Given the description of an element on the screen output the (x, y) to click on. 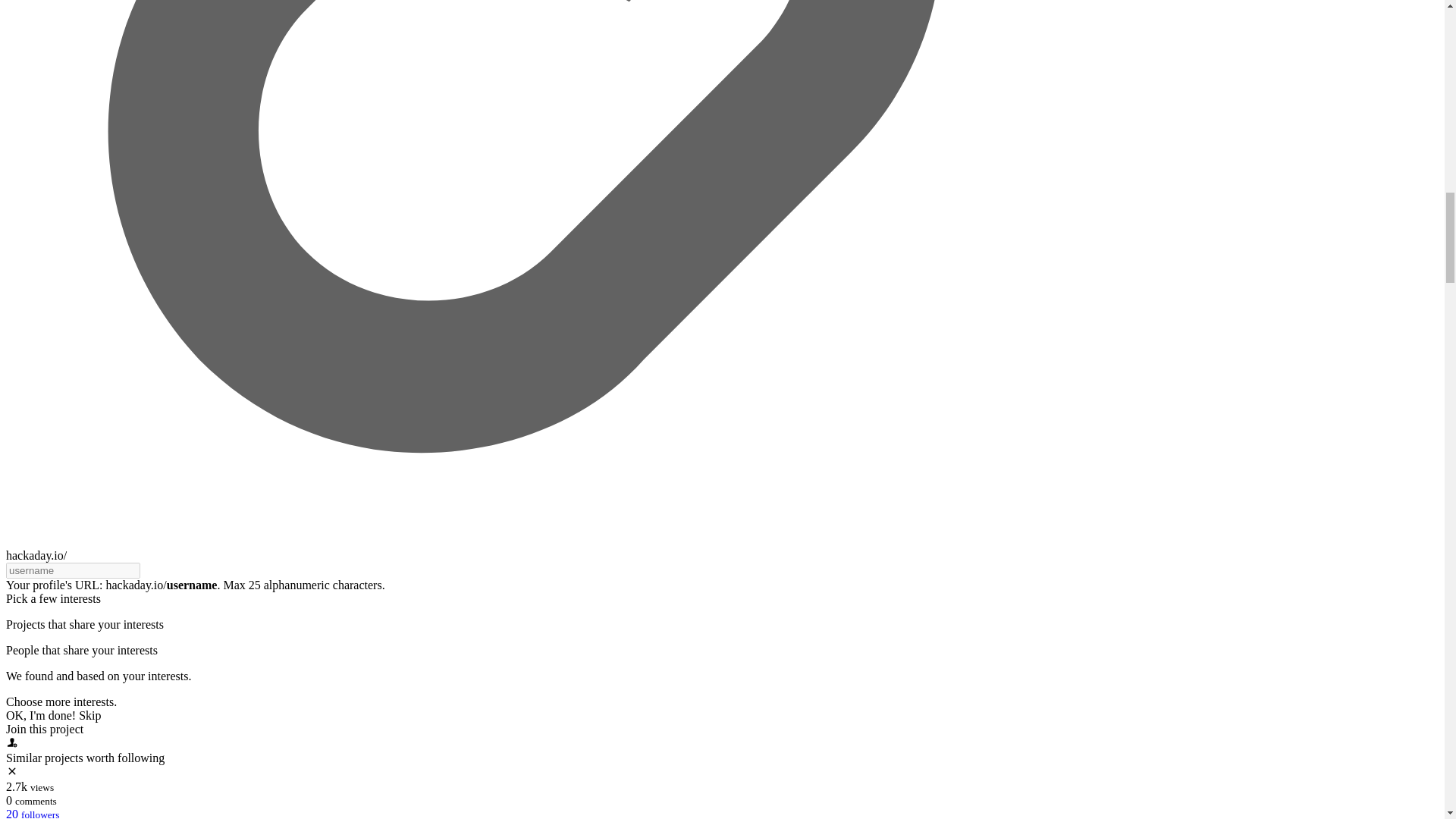
View Count (16, 786)
OK, I'm done! (41, 715)
Skip (89, 715)
0 comments (30, 799)
Comments (8, 799)
Followers (11, 813)
20 followers (32, 813)
Choose more interests. (60, 701)
